Given the description of an element on the screen output the (x, y) to click on. 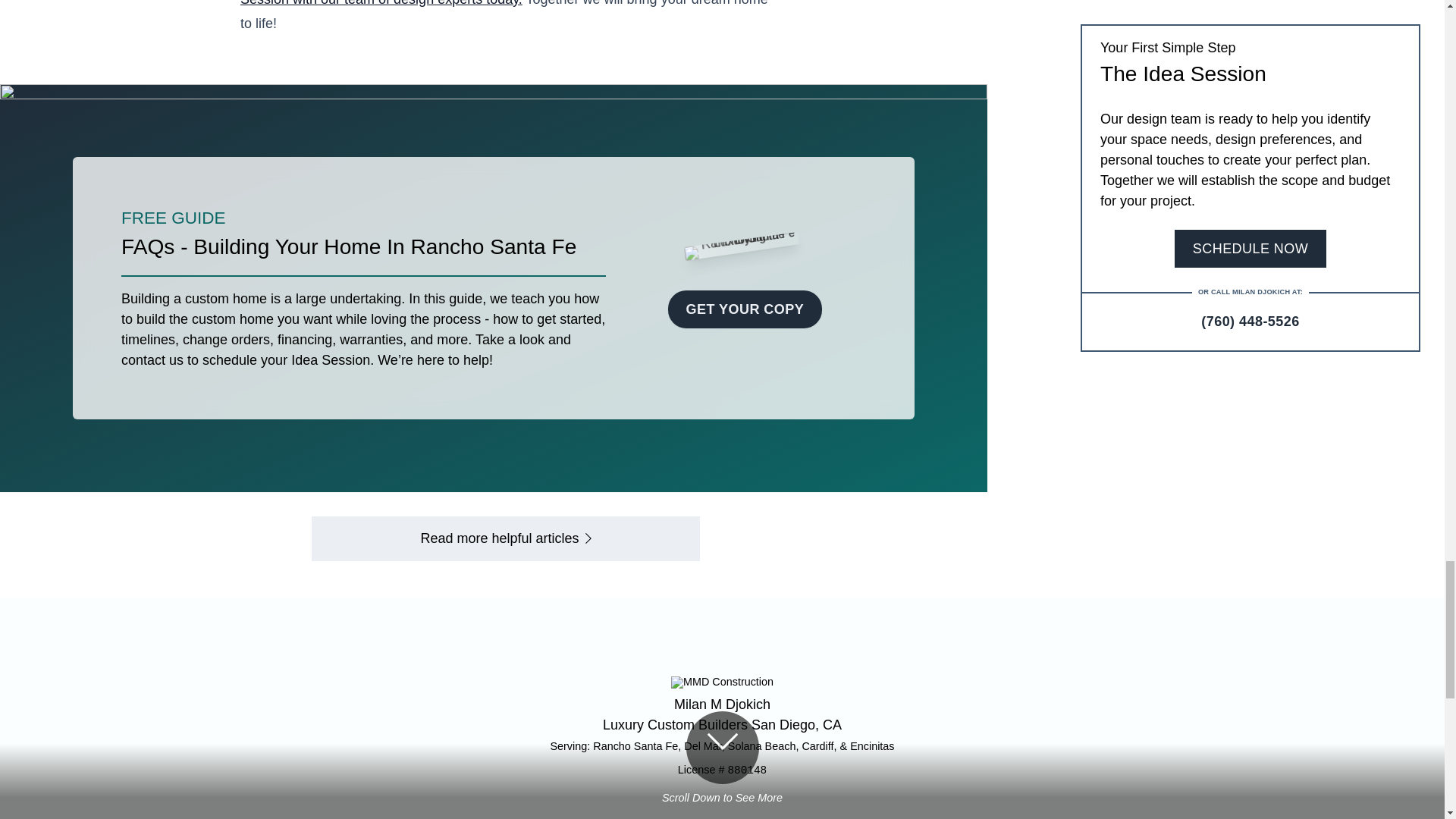
GET YOUR COPY (745, 287)
MMD Construction in Rancho Santa Fe (722, 724)
Read more helpful articles (505, 538)
